Given the description of an element on the screen output the (x, y) to click on. 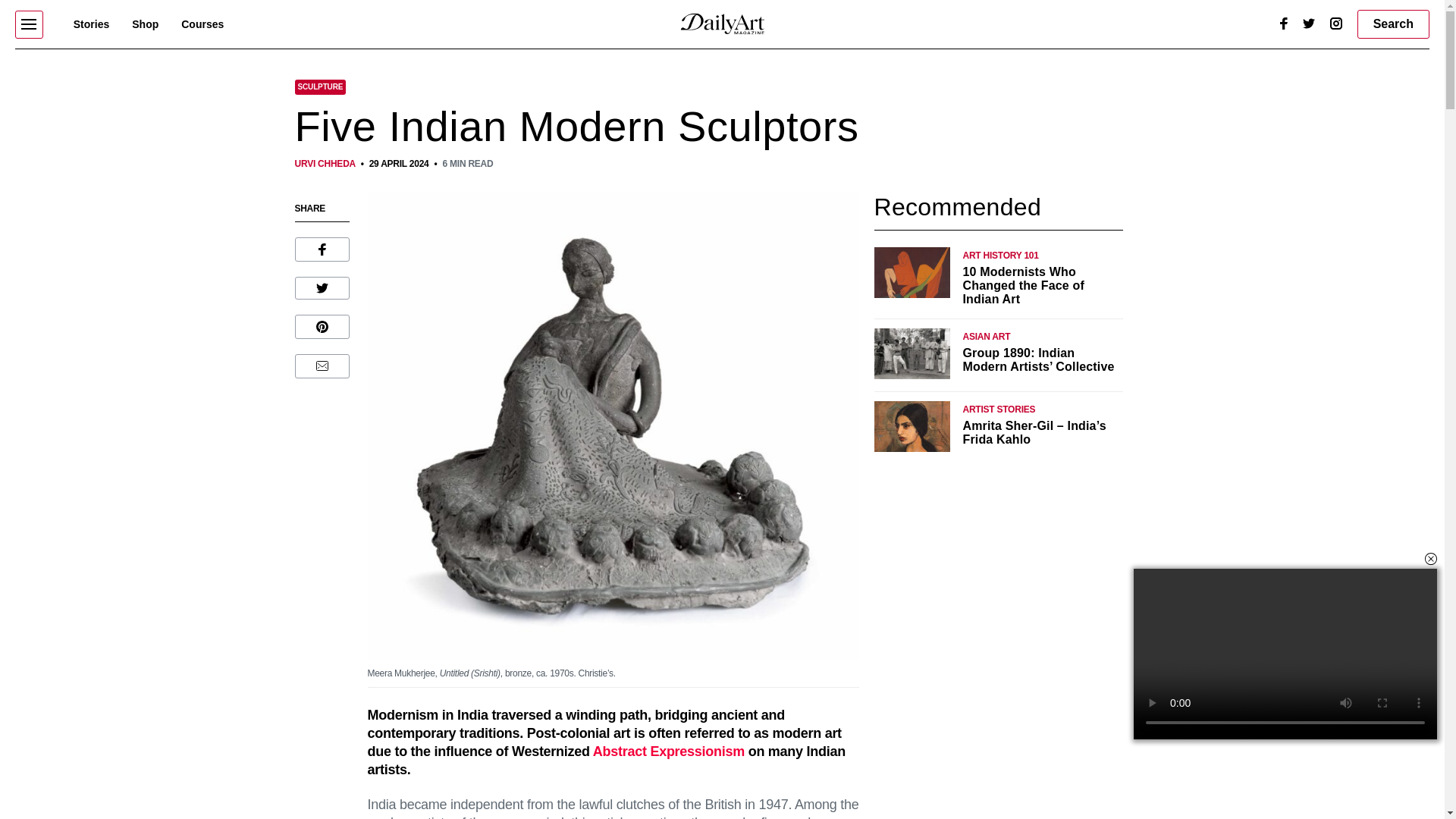
Search (1392, 23)
Tweet This Post (321, 287)
Pin This Post (321, 326)
Stories (91, 24)
Courses (202, 24)
Shop (145, 24)
